Given the description of an element on the screen output the (x, y) to click on. 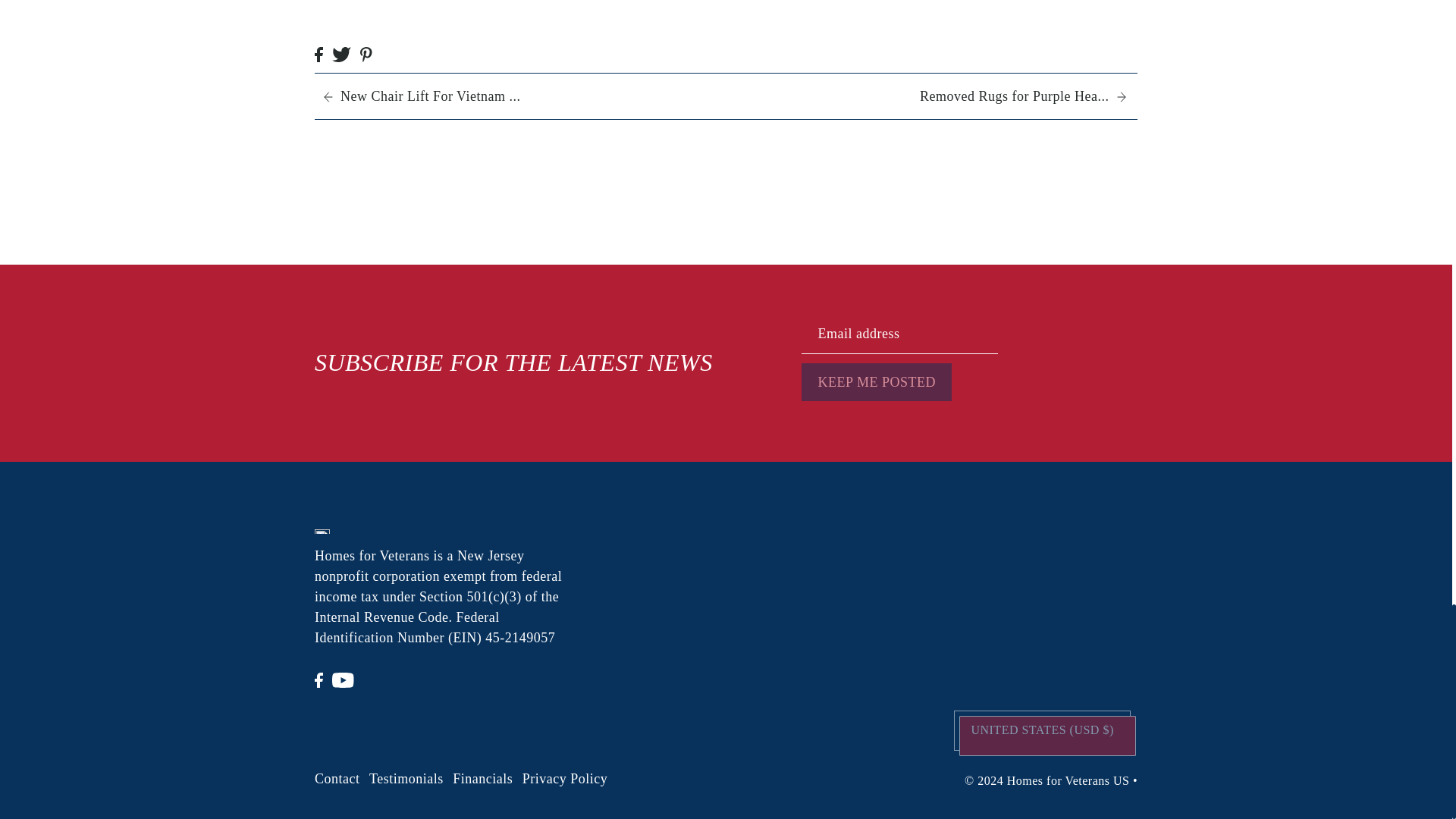
 New Chair Lift For Vietnam ... (524, 96)
Removed Rugs for Purple Hea...  (925, 96)
Youtube (342, 679)
